Given the description of an element on the screen output the (x, y) to click on. 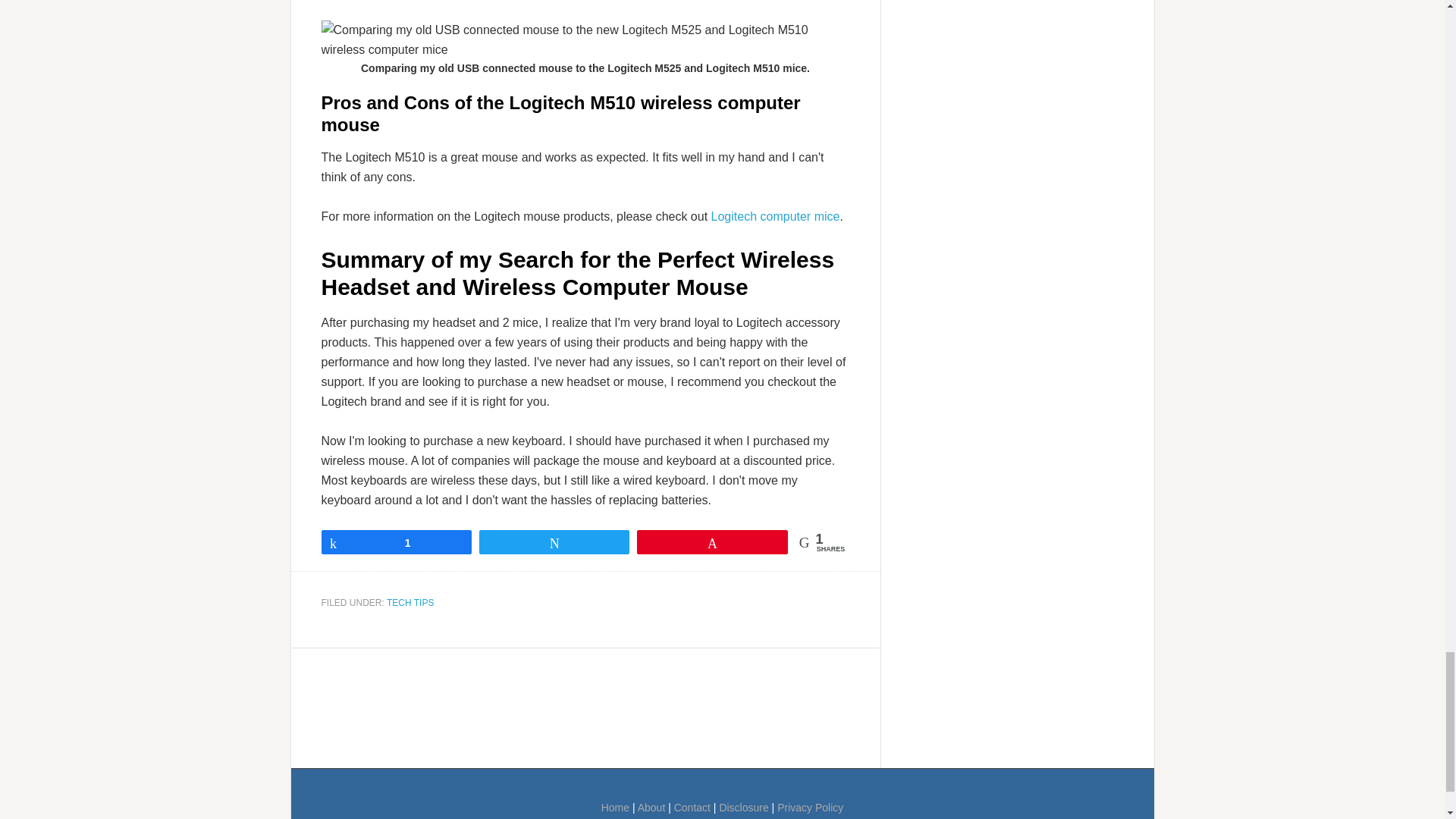
Privacy Policy (810, 807)
Contact (692, 807)
About (651, 807)
Logitech computer mice (775, 215)
Disclosure (743, 807)
TECH TIPS (410, 602)
Home (616, 807)
1 (395, 541)
